Given the description of an element on the screen output the (x, y) to click on. 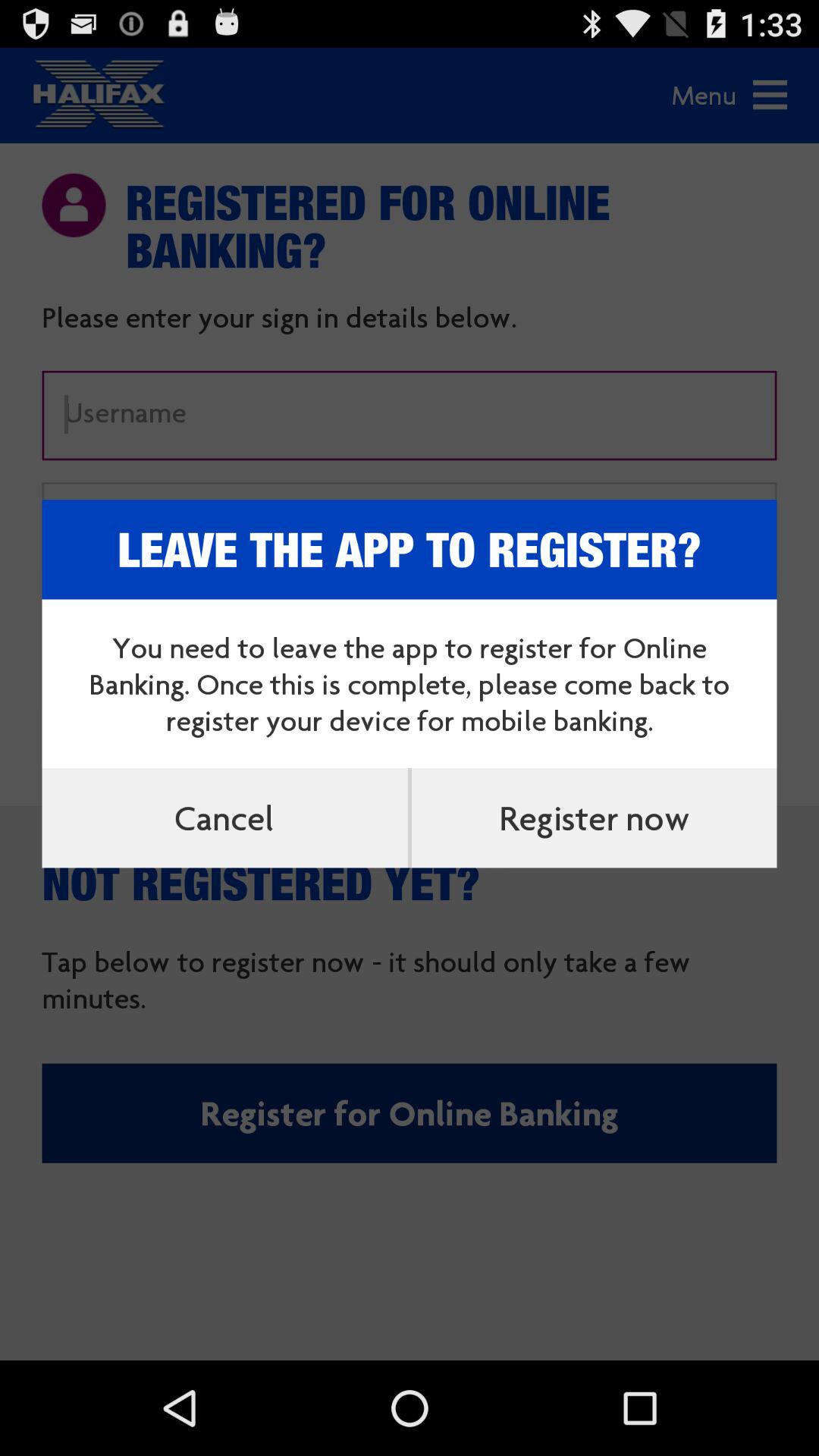
jump to cancel (224, 817)
